Given the description of an element on the screen output the (x, y) to click on. 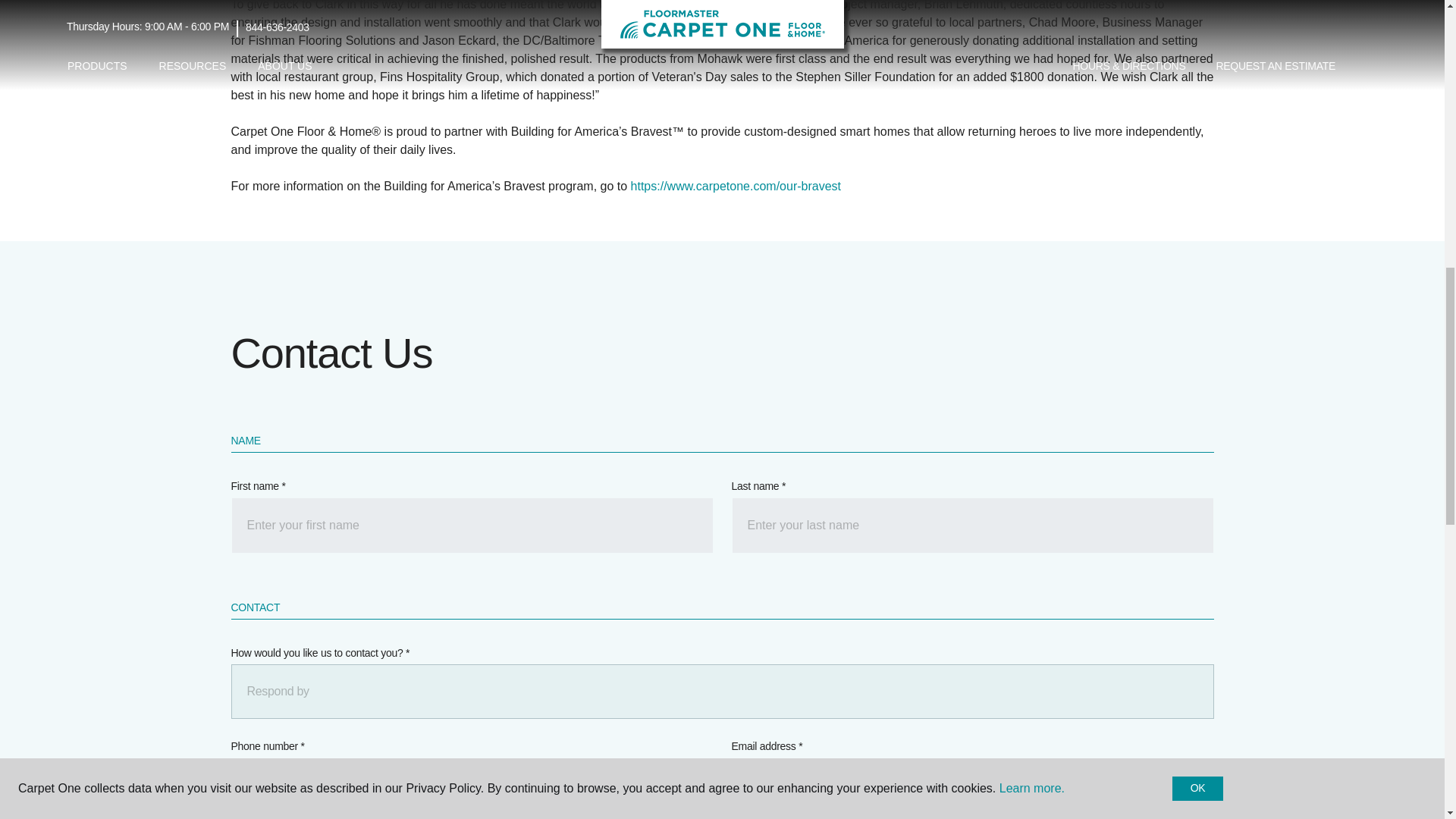
FirstName (471, 525)
EmailAddress (971, 785)
CleanHomePhone (471, 785)
LastName (971, 525)
